Given the description of an element on the screen output the (x, y) to click on. 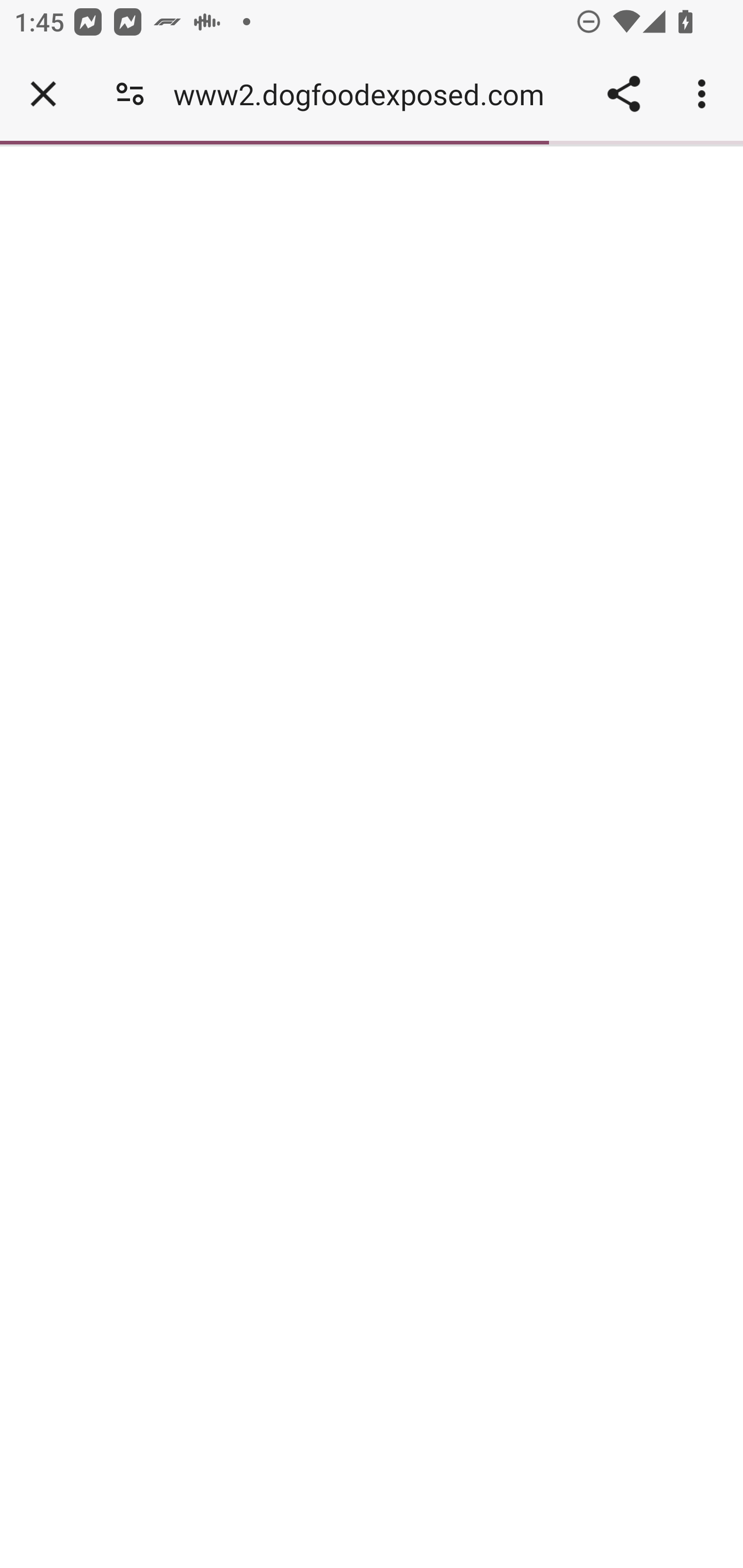
Close tab (43, 93)
Share (623, 93)
Customize and control Google Chrome (705, 93)
Connection is secure (129, 93)
www2.dogfoodexposed.com (365, 93)
